Given the description of an element on the screen output the (x, y) to click on. 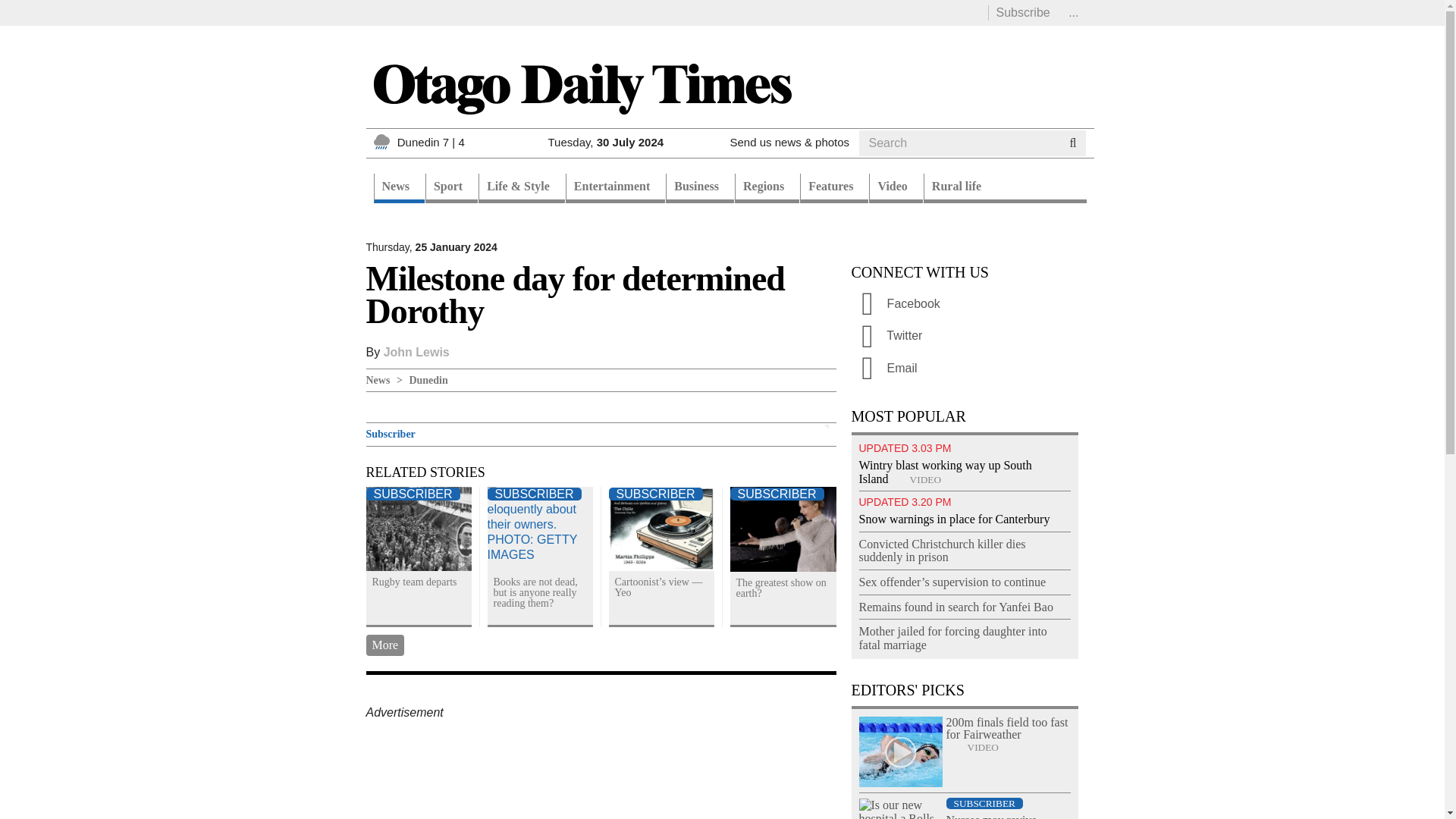
Enter the terms you wish to search for. (959, 143)
Home (581, 87)
Sport (451, 188)
Subscribe (1022, 11)
News (397, 188)
Rain (380, 141)
Search (888, 161)
